Given the description of an element on the screen output the (x, y) to click on. 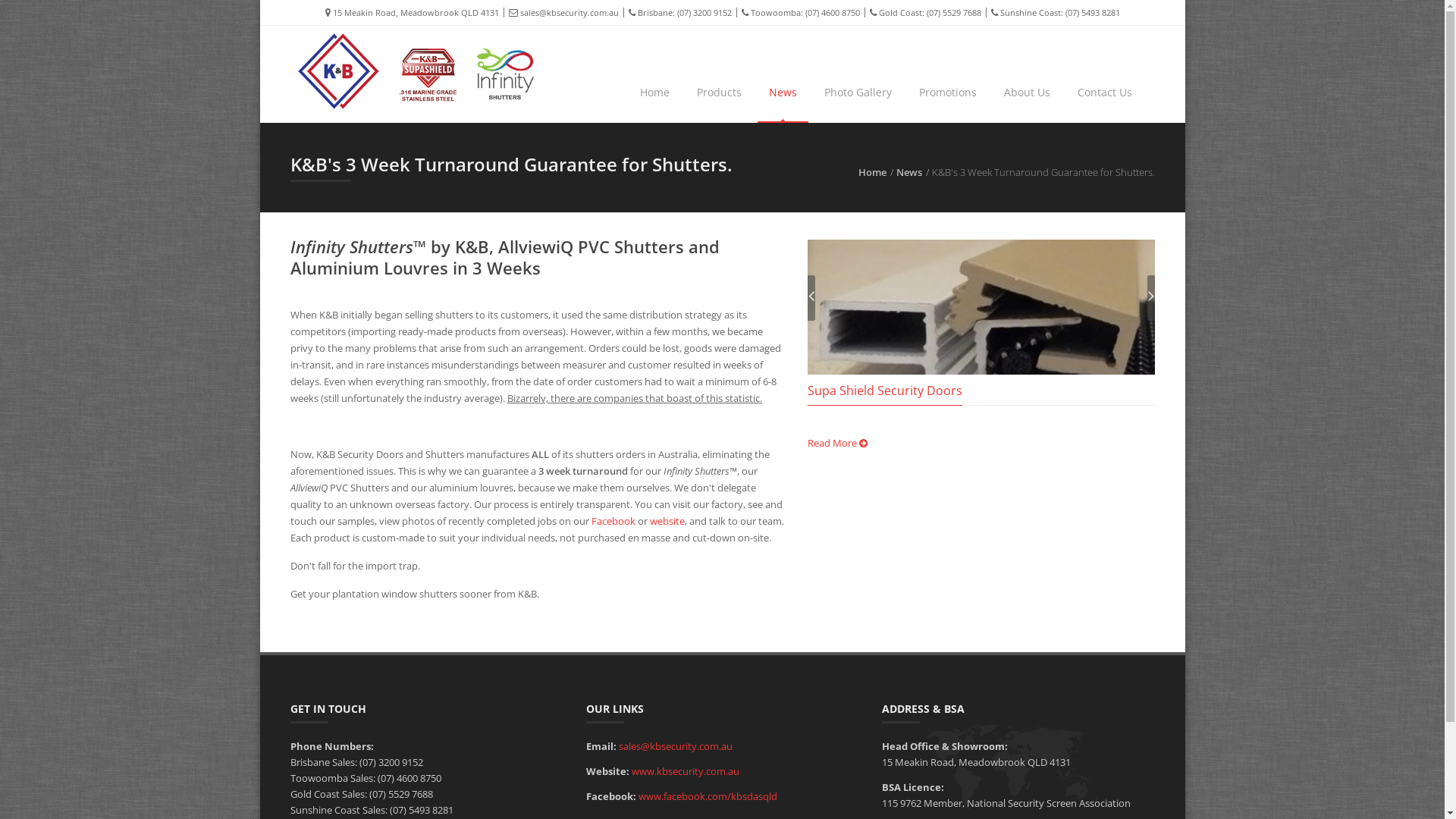
Contact Us Element type: text (1104, 92)
Products Element type: text (719, 92)
Supa Shield Security Doors Element type: text (884, 390)
sales@kbsecurity.com.au Element type: text (558, 12)
Facebook Element type: text (613, 520)
Photo Gallery Element type: text (857, 92)
Brisbane: (07) 3200 9152 Element type: text (674, 12)
www.facebook.com/kbsdasqld Element type: text (707, 796)
Read More Element type: text (837, 442)
Gold Coast: (07) 5529 7688 Element type: text (920, 12)
Home Element type: text (653, 92)
www.kbsecurity.com.au Element type: text (684, 771)
Home Element type: text (872, 171)
website Element type: text (666, 520)
Promotions Element type: text (946, 92)
News Element type: text (781, 92)
Sunshine Coast: (07) 5493 8281 Element type: text (1050, 12)
About Us Element type: text (1025, 92)
15 Meakin Road, Meadowbrook QLD 4131 Element type: text (411, 12)
News Element type: text (909, 171)
sales@kbsecurity.com.au Element type: text (675, 746)
Toowoomba: (07) 4600 8750 Element type: text (795, 12)
